Given the description of an element on the screen output the (x, y) to click on. 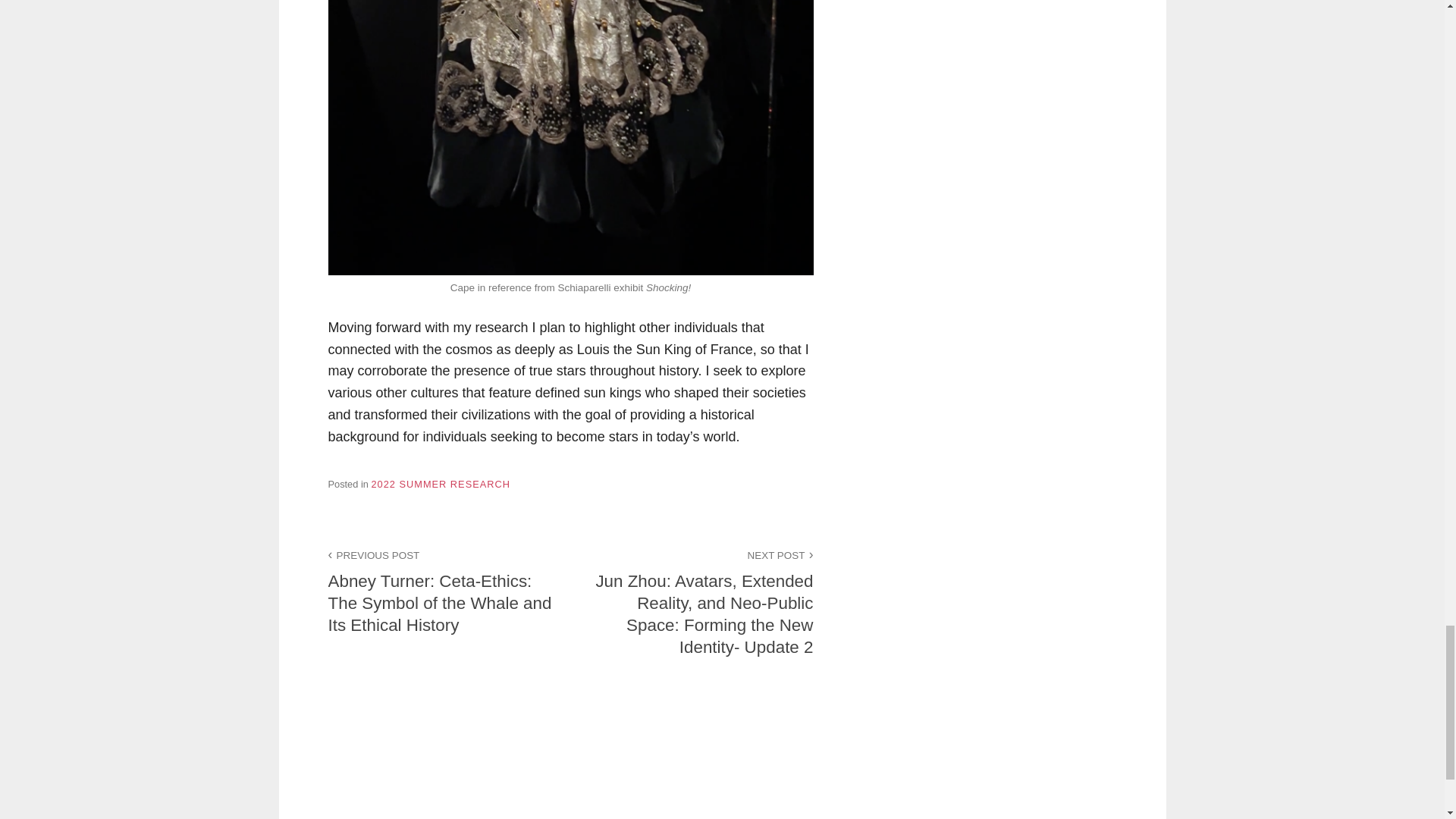
2022 SUMMER RESEARCH (441, 483)
